Given the description of an element on the screen output the (x, y) to click on. 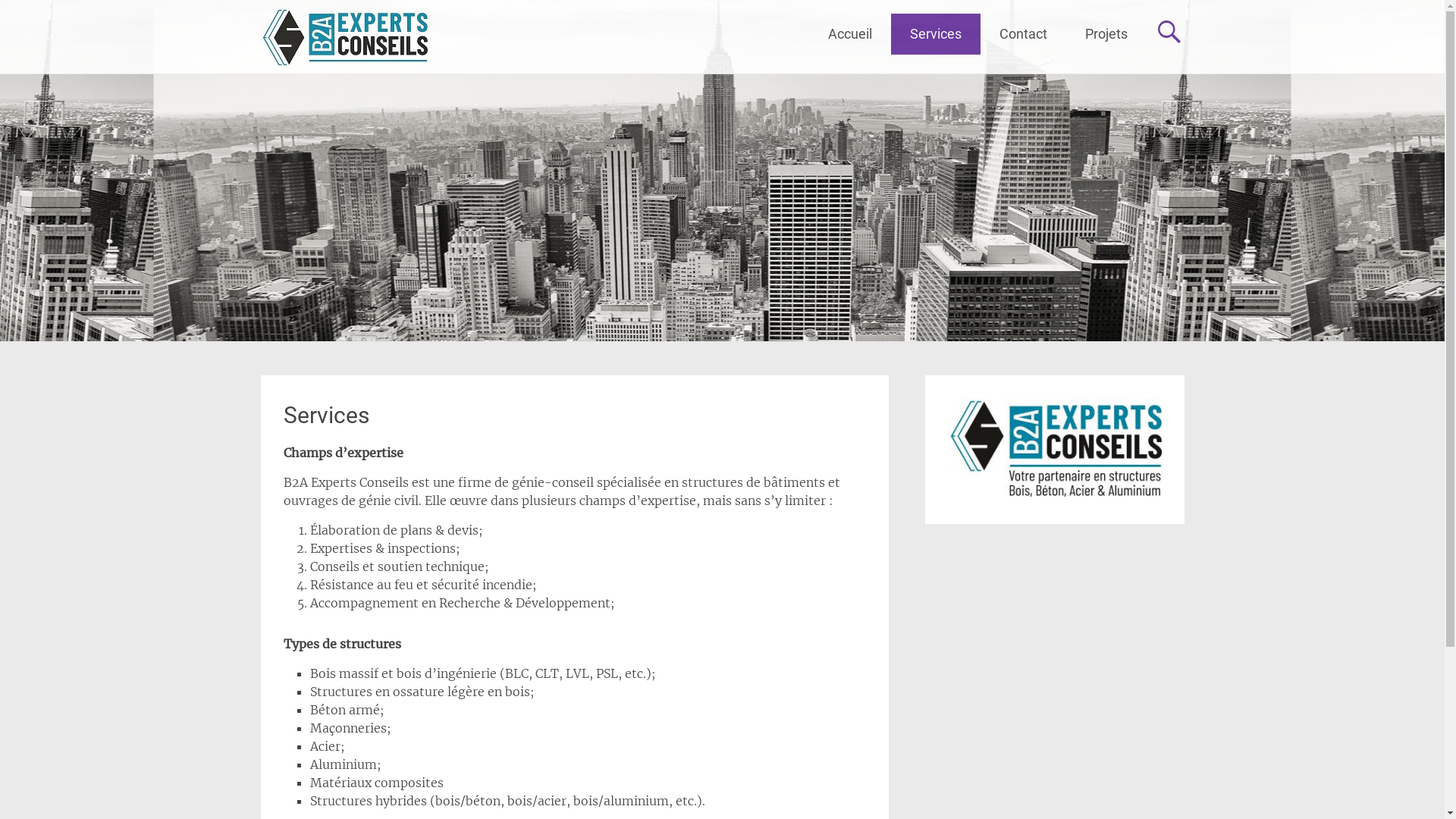
Accueil Element type: text (849, 33)
Services Element type: text (934, 33)
Contact Element type: text (1022, 33)
Projets Element type: text (1106, 33)
Aller au contenu principal Element type: text (827, 12)
